Given the description of an element on the screen output the (x, y) to click on. 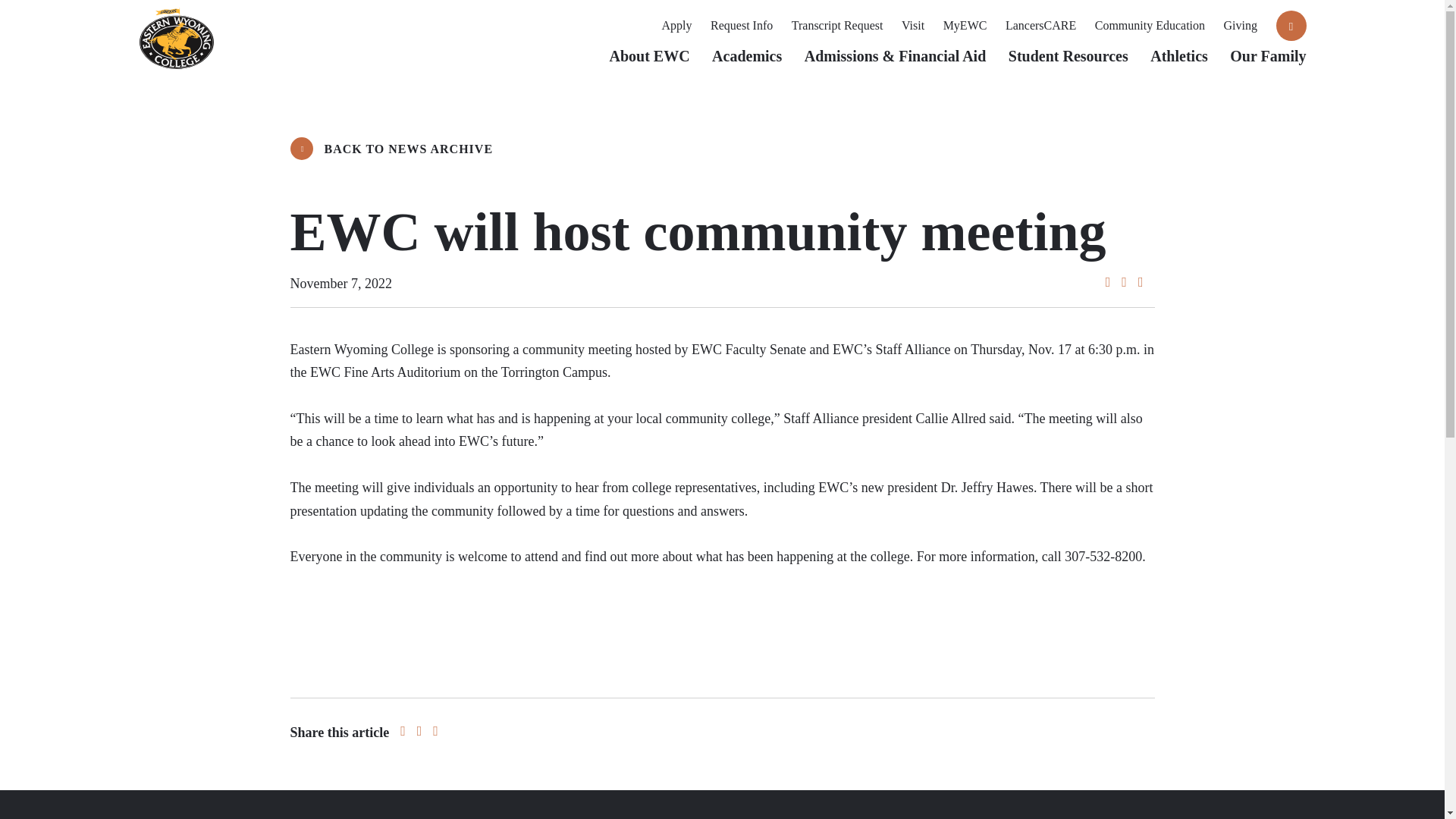
Transcript Request (837, 24)
LancersCARE (1040, 24)
Request Info (741, 24)
About EWC (648, 63)
Community Education (1149, 24)
Visit (912, 24)
Giving (1240, 24)
Academics (746, 63)
Apply (677, 24)
MyEWC (965, 24)
